Given the description of an element on the screen output the (x, y) to click on. 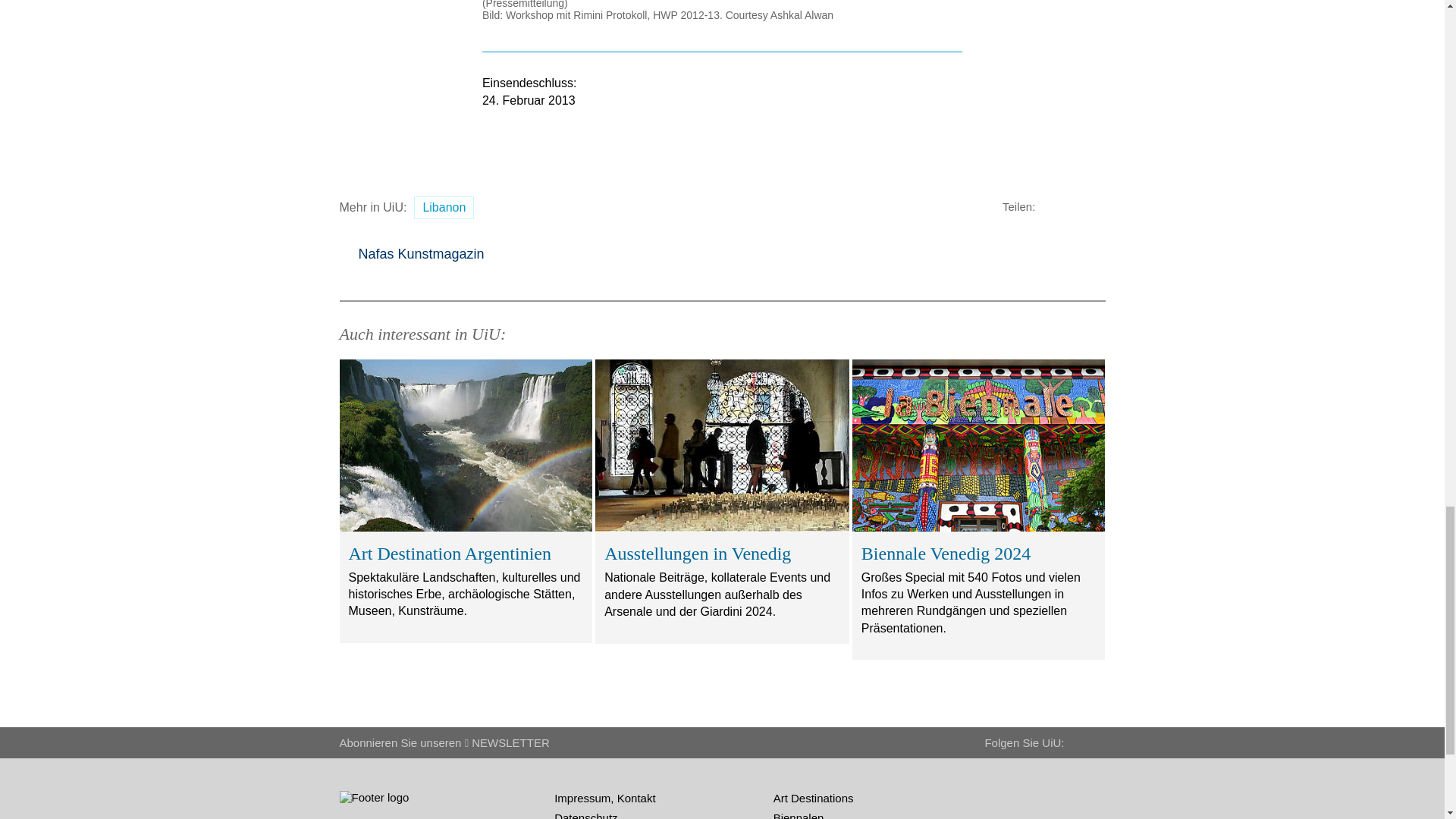
Ausstellungen in Venedig 2024 (721, 501)
Ausstellungen in Venedig (721, 445)
Art Destination Argentinien (465, 500)
Newsletter (507, 742)
About, Masthead, Service (401, 818)
Art Destination Argentinien (465, 445)
Nafas Kunstmagazin (411, 254)
Home (374, 800)
Biennale Venedig 2024 (979, 445)
NEWSLETTER (507, 742)
